Given the description of an element on the screen output the (x, y) to click on. 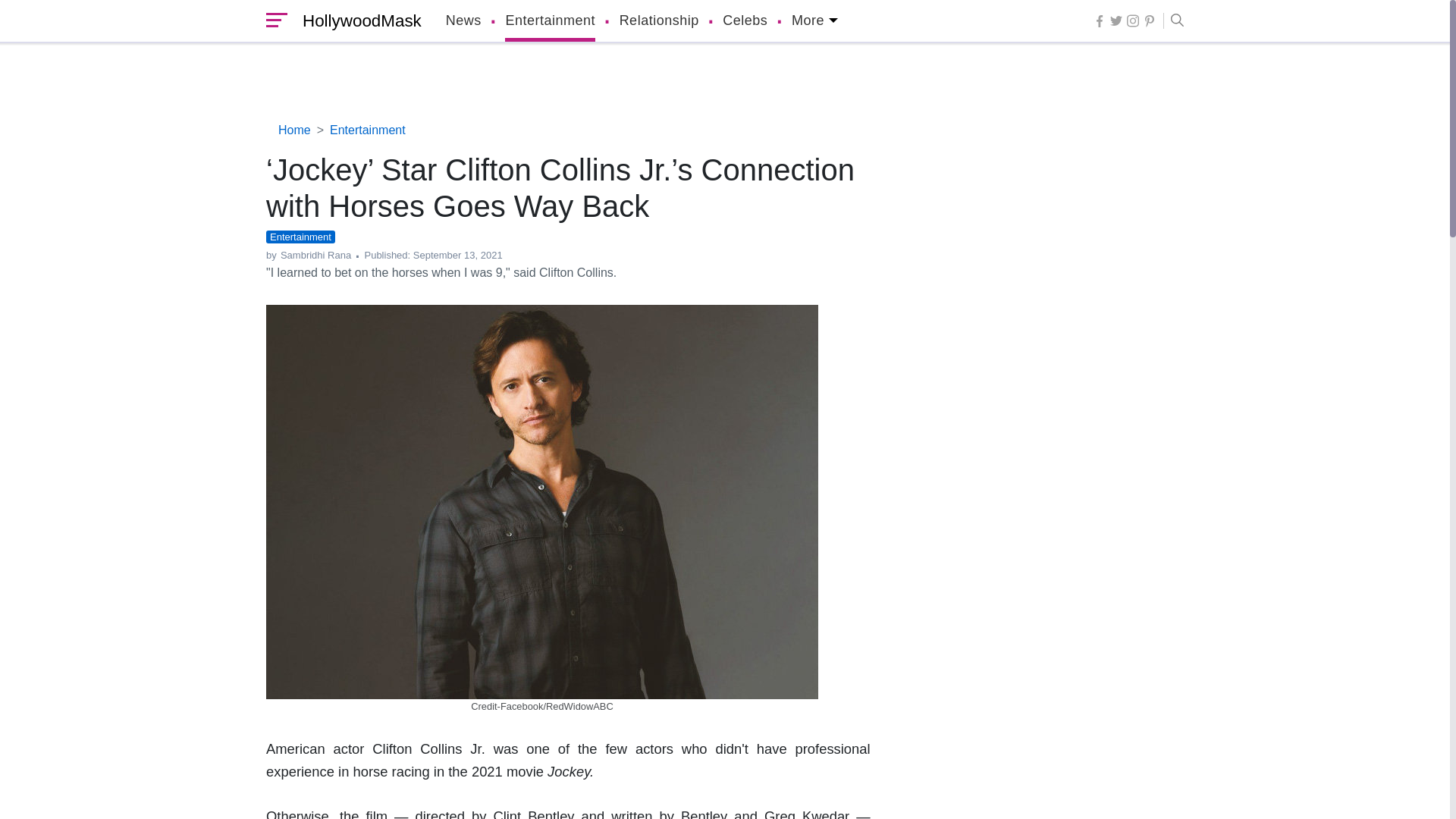
Celebs (744, 20)
Follow Us On twitter (1115, 20)
Follow Us On instagram (1132, 20)
Entertainment (550, 20)
Relationship (659, 20)
Search (1173, 20)
HollywoodMask (358, 21)
Entertainment (550, 20)
Celebs (744, 20)
HollywoodMask (358, 21)
more (815, 20)
Relationship (659, 20)
More (815, 20)
